Given the description of an element on the screen output the (x, y) to click on. 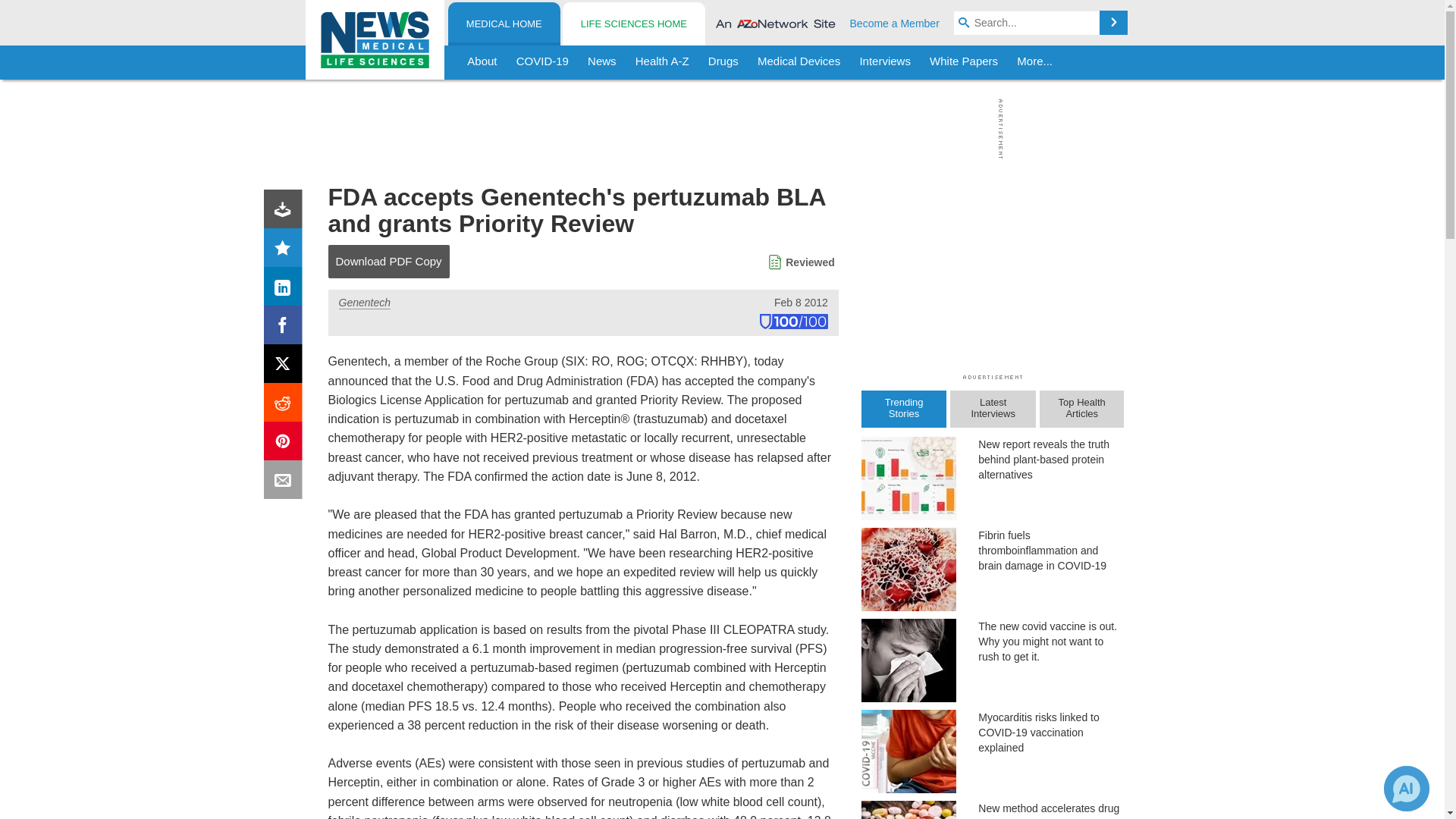
News (601, 62)
Become a Member (894, 22)
Health A-Z (662, 62)
Drugs (722, 62)
Pinterest (285, 443)
More... (1035, 62)
LIFE SCIENCES HOME (633, 23)
Rating (285, 250)
Facebook (285, 328)
